Given the description of an element on the screen output the (x, y) to click on. 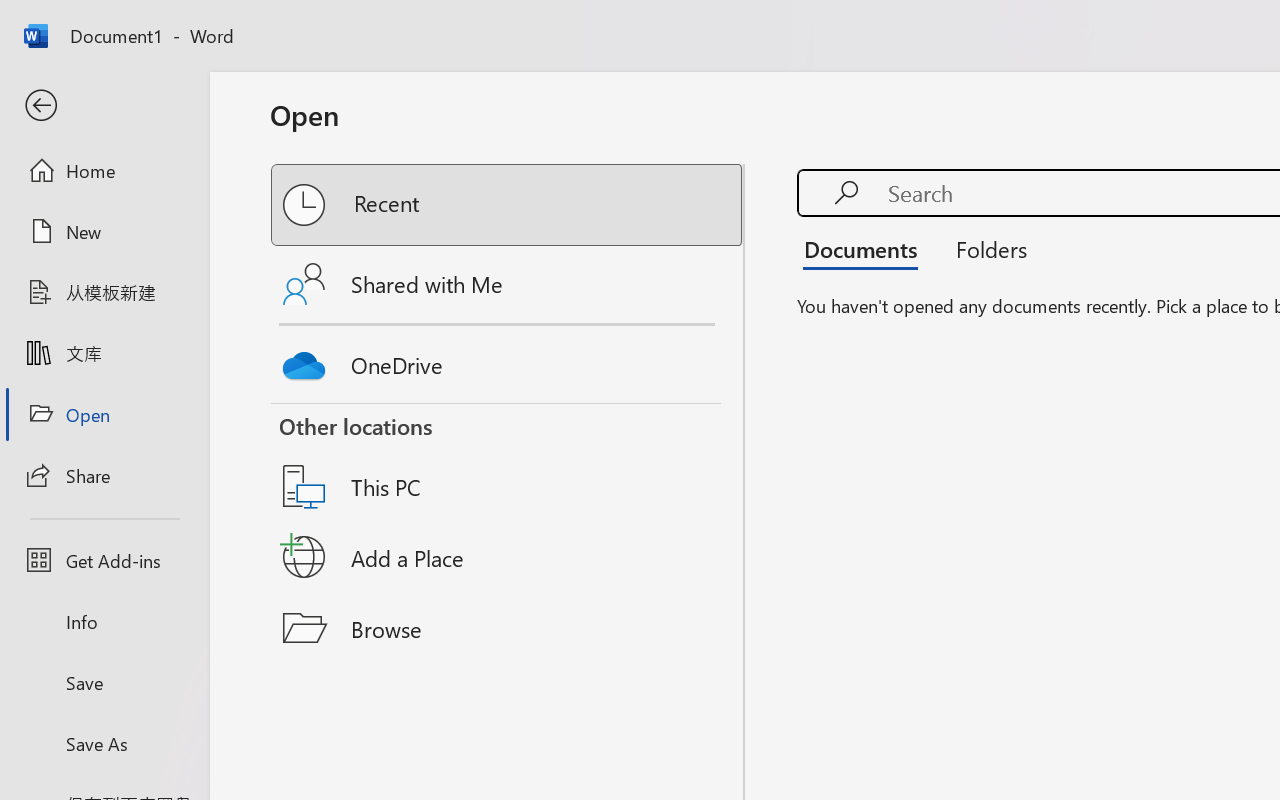
Info (104, 621)
Get Add-ins (104, 560)
This PC (507, 461)
Add a Place (507, 557)
Browse (507, 627)
Recent (507, 205)
Folders (984, 248)
Back (104, 106)
New (104, 231)
